Given the description of an element on the screen output the (x, y) to click on. 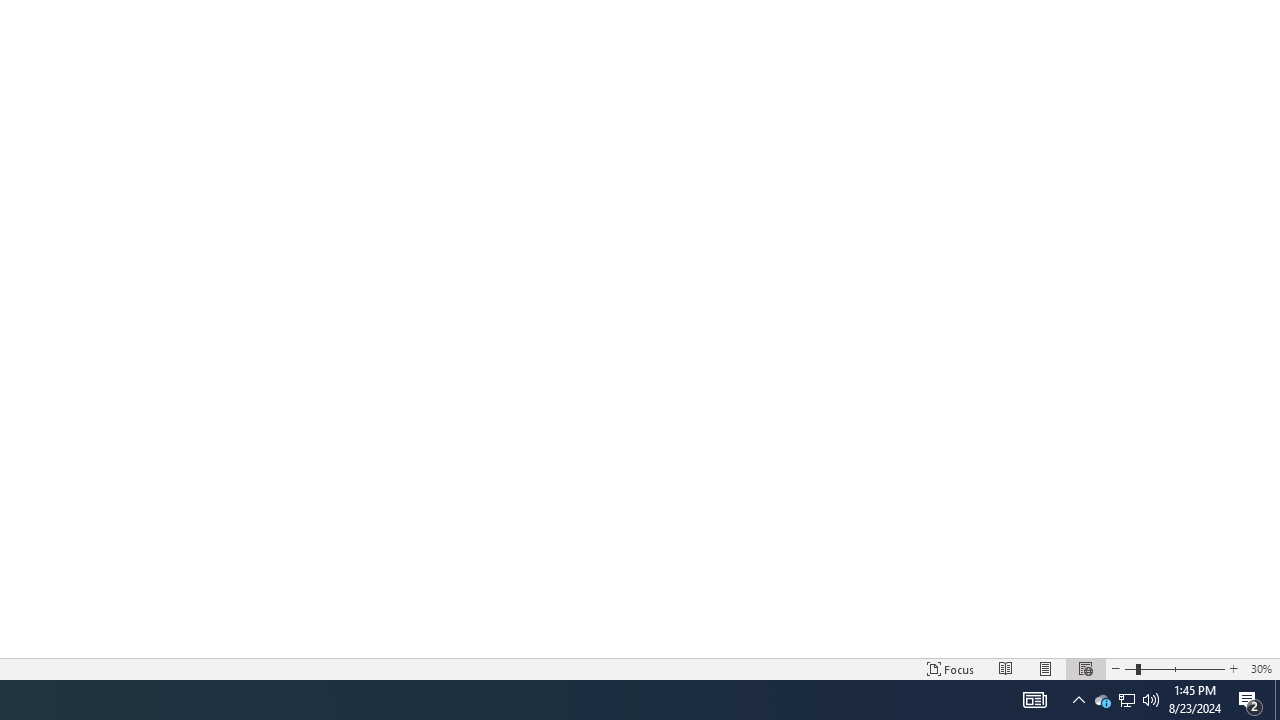
Zoom 30% (1261, 668)
Zoom (1174, 668)
